Given the description of an element on the screen output the (x, y) to click on. 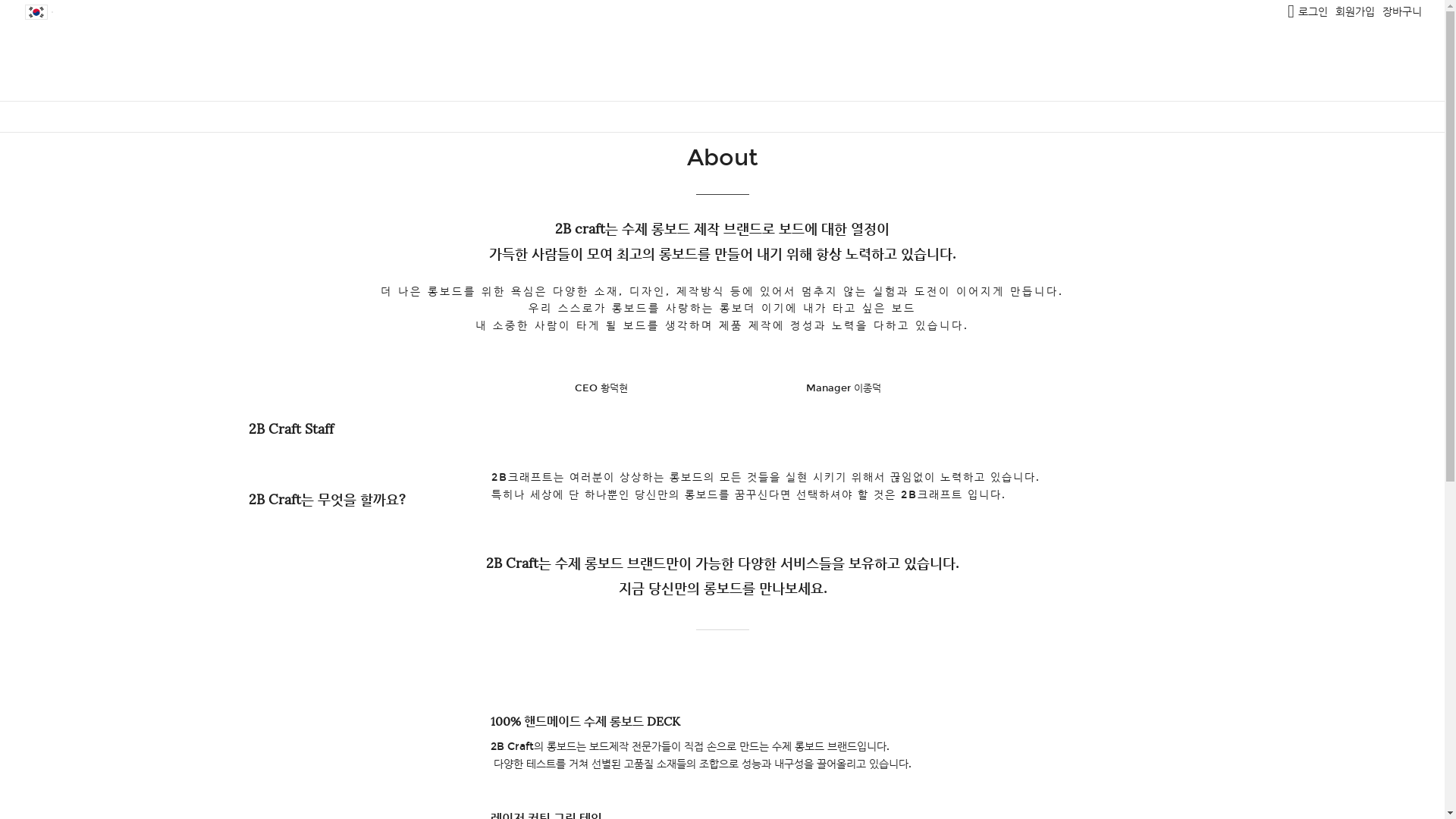
site search Element type: text (1290, 11)
